Given the description of an element on the screen output the (x, y) to click on. 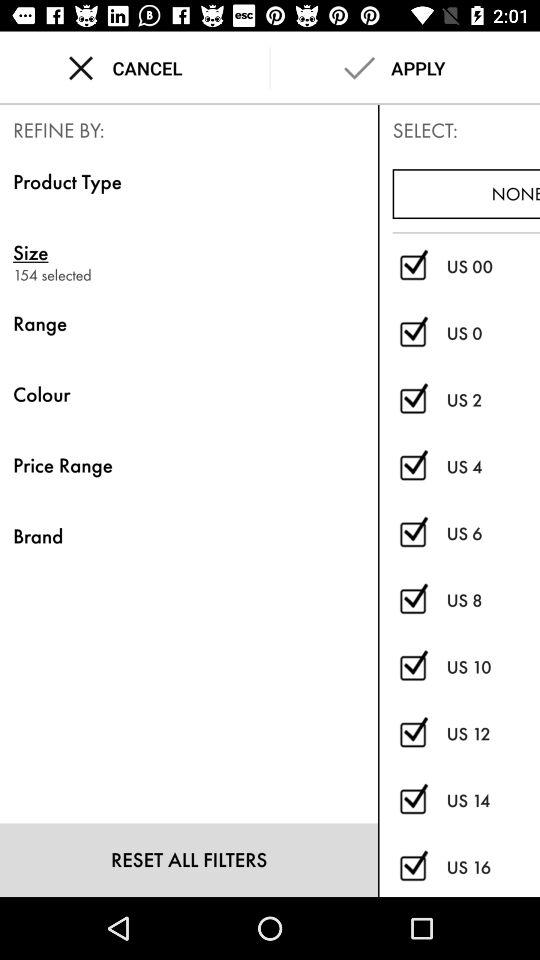
click 154 selected icon (188, 274)
